Given the description of an element on the screen output the (x, y) to click on. 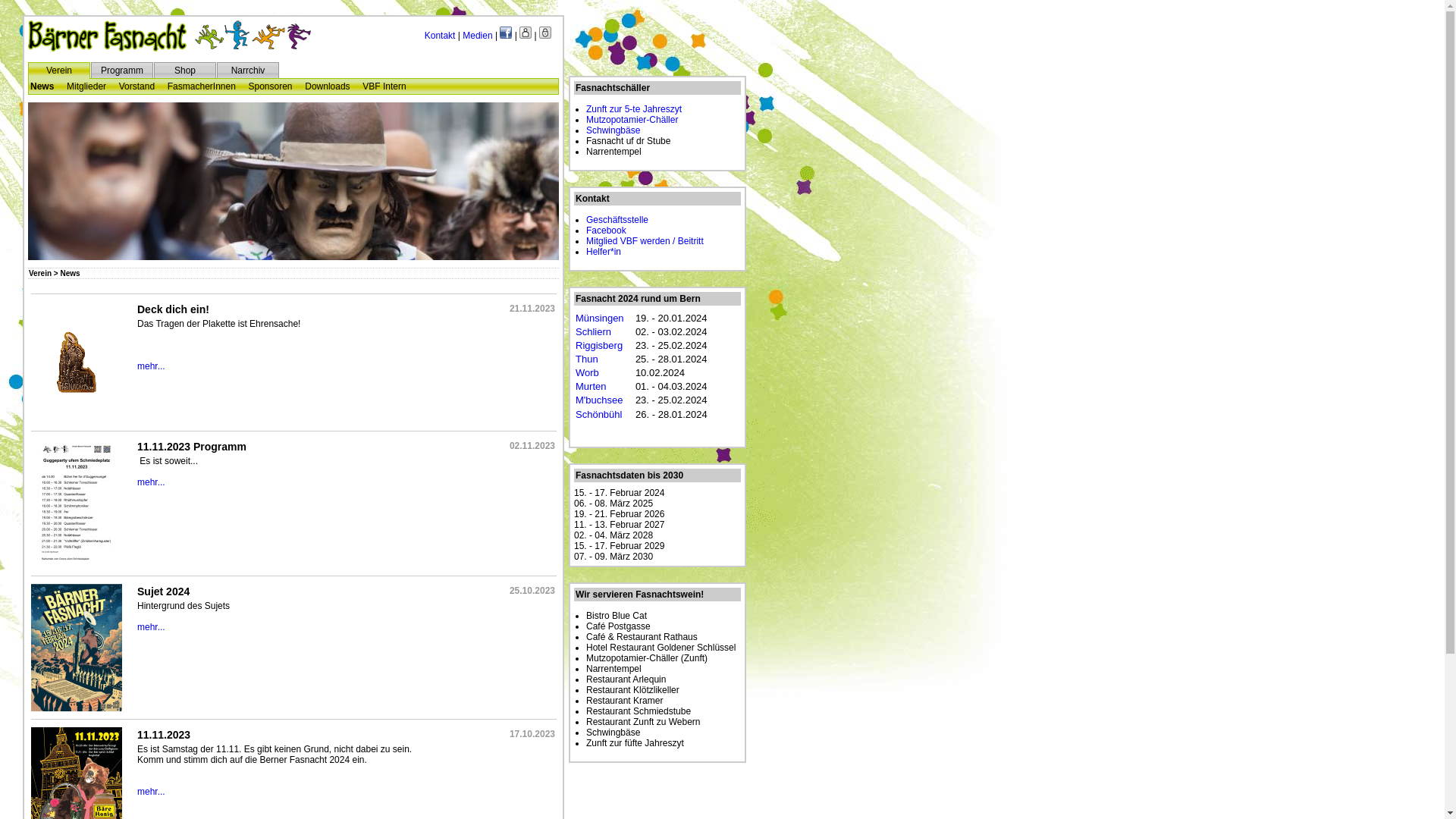
Helfer*in Element type: text (603, 251)
Medien Element type: text (477, 35)
Facebook Element type: hover (505, 35)
Verein Element type: text (59, 70)
Mitglied VBF werden / Beitritt Element type: text (644, 240)
Shop Element type: text (184, 70)
FasmacherInnen Element type: text (201, 86)
Downloads Element type: text (326, 86)
Programm Element type: text (121, 70)
M'buchsee Element type: text (598, 400)
Murten Element type: text (590, 386)
Facebook Element type: text (606, 230)
Diese Seite weiterempfehlen Element type: hover (525, 35)
Schliern Element type: text (593, 331)
Zunft zur 5-te Jahreszyt  Element type: text (635, 108)
Vorstand Element type: text (136, 86)
Sponsoren Element type: text (270, 86)
Narrchiv Element type: text (248, 70)
mehr... Element type: text (151, 481)
mehr... Element type: text (151, 626)
mehr... Element type: text (151, 365)
Worb Element type: text (587, 372)
Kontakt Element type: text (439, 35)
Mitglieder Element type: text (86, 86)
Riggisberg Element type: text (598, 345)
News Element type: text (41, 86)
mehr... Element type: text (151, 791)
VBF Intern Element type: text (383, 86)
Thun Element type: text (586, 359)
